Given the description of an element on the screen output the (x, y) to click on. 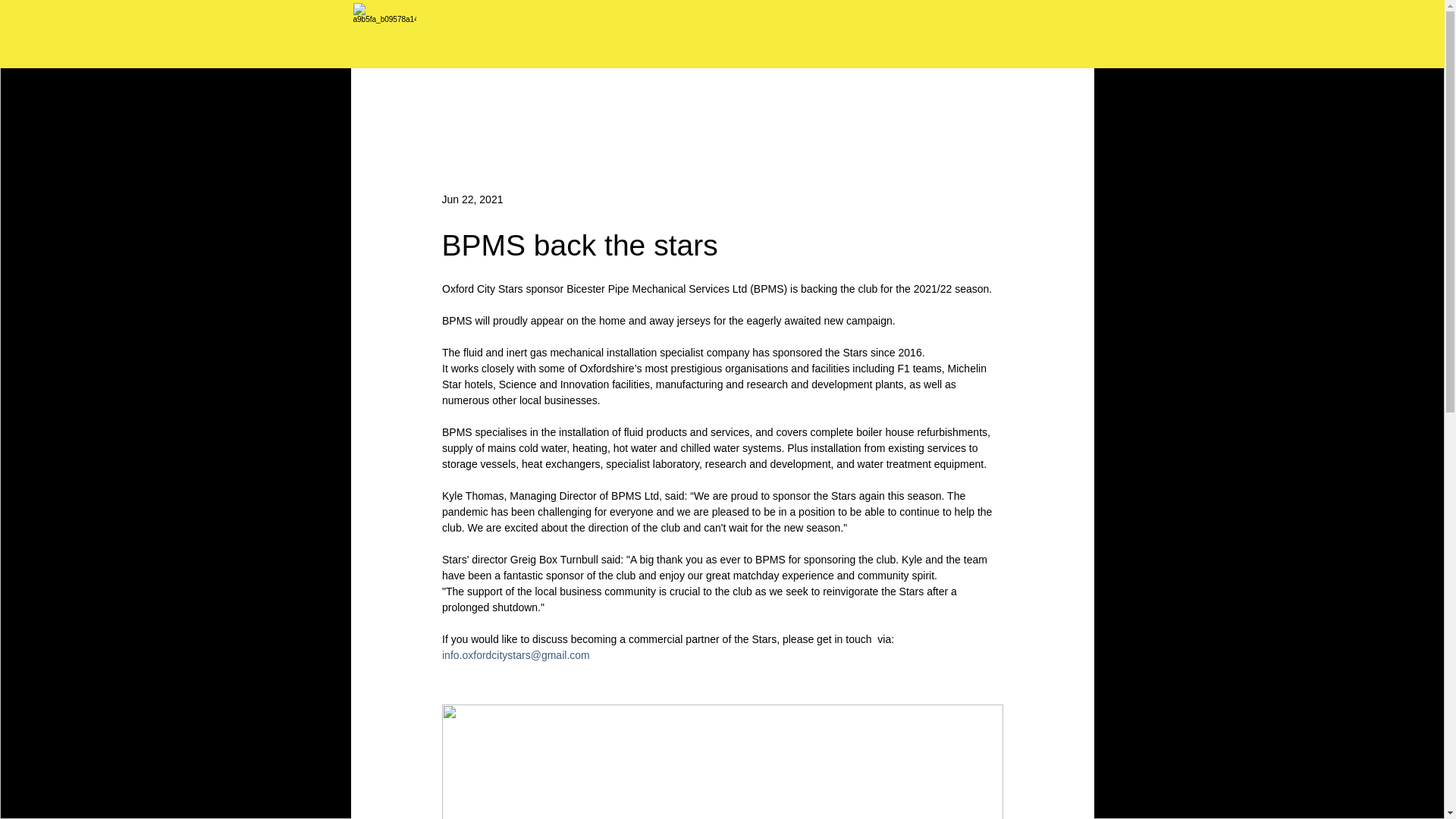
Club update (543, 97)
News (400, 97)
Jun 22, 2021 (471, 198)
